Given the description of an element on the screen output the (x, y) to click on. 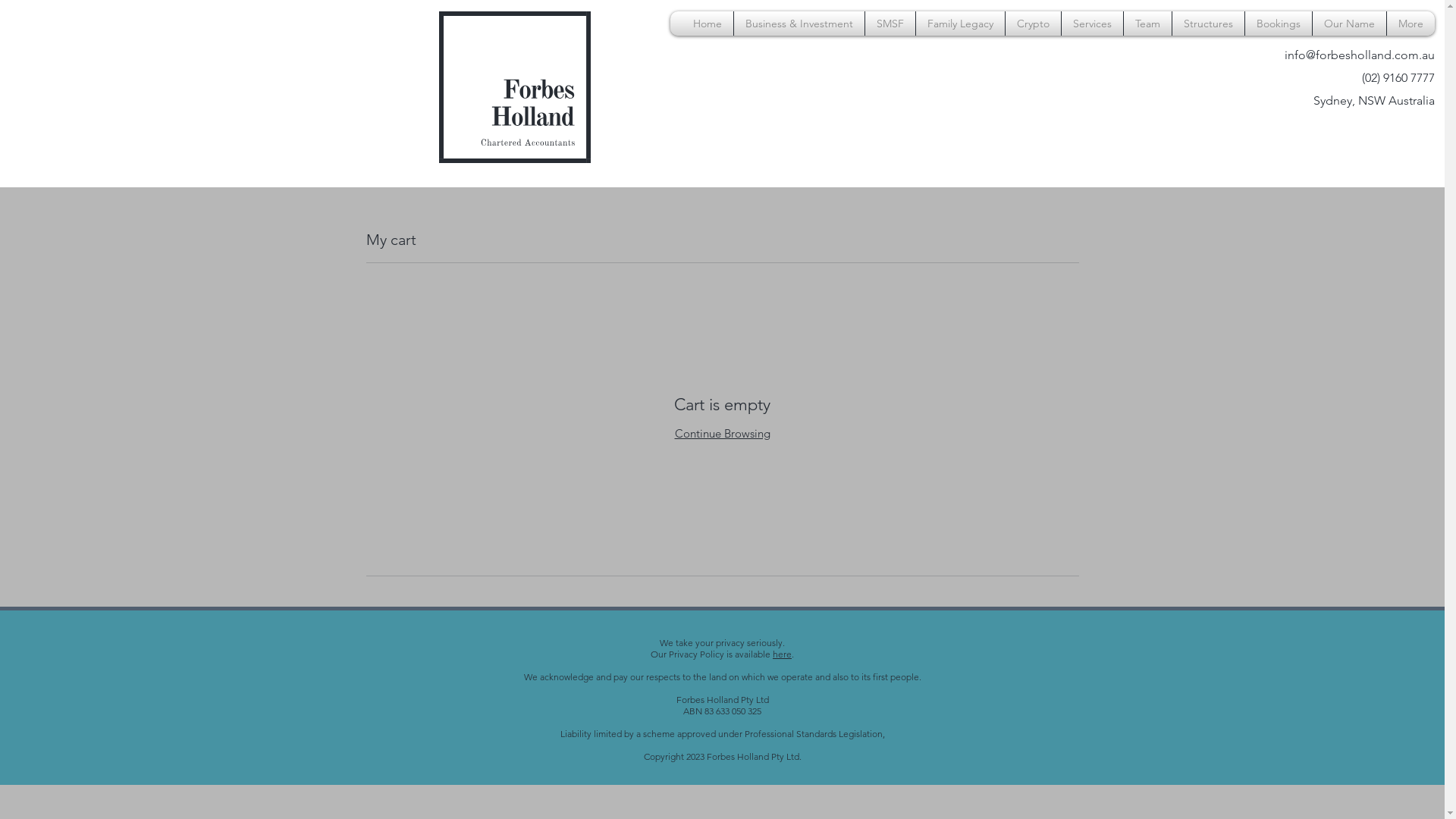
Structures Element type: text (1208, 23)
Services Element type: text (1092, 23)
Crypto Element type: text (1033, 23)
here Element type: text (781, 653)
Our Name Element type: text (1349, 23)
Team Element type: text (1147, 23)
Bookings Element type: text (1278, 23)
SMSF Element type: text (890, 23)
Business & Investment Element type: text (798, 23)
Family Legacy Element type: text (960, 23)
Continue Browsing Element type: text (722, 433)
info@forbesholland.com.au Element type: text (1359, 54)
Home Element type: text (707, 23)
